Given the description of an element on the screen output the (x, y) to click on. 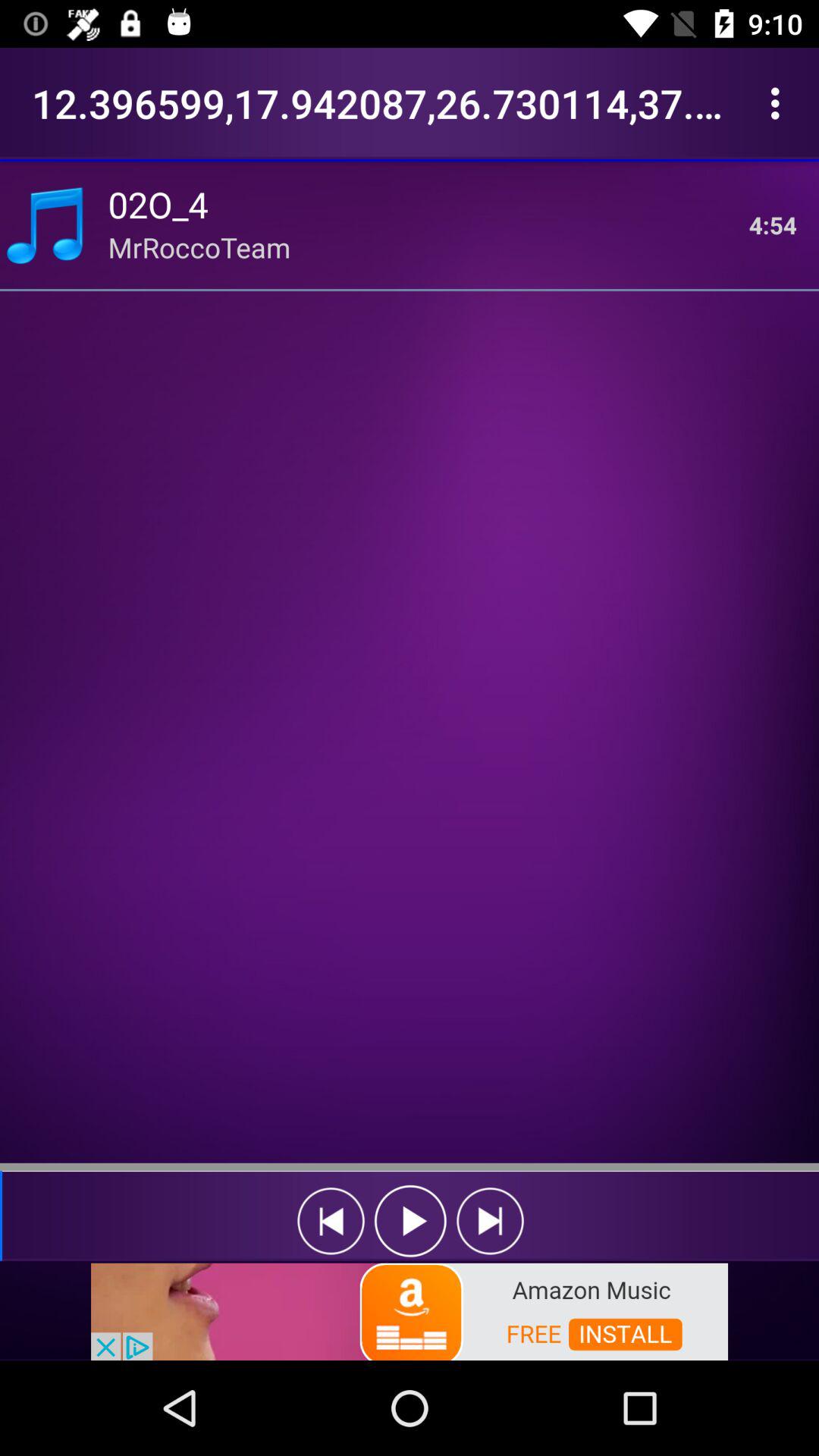
to goto next music in the music list (490, 1220)
